Given the description of an element on the screen output the (x, y) to click on. 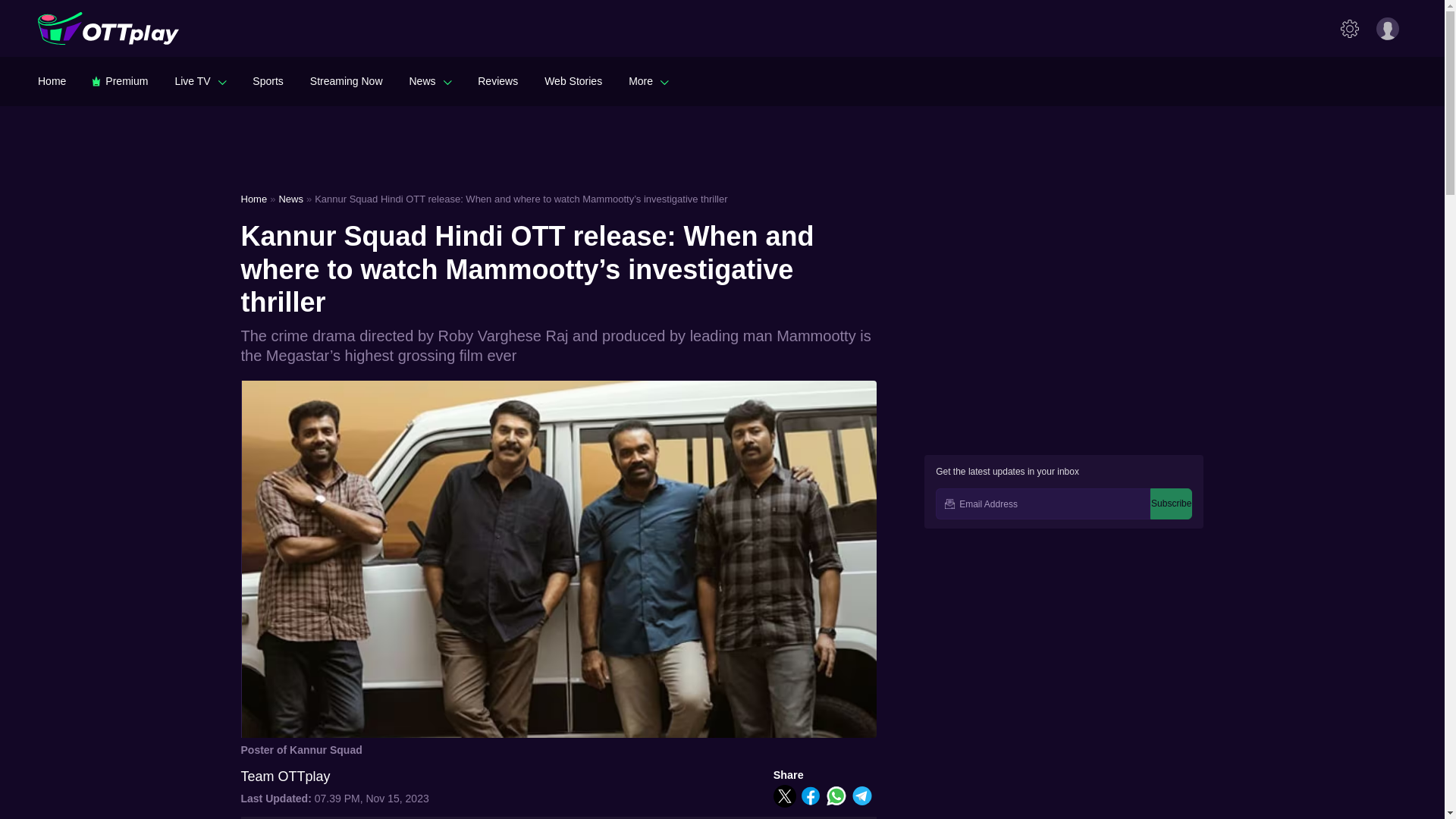
Live TV (199, 80)
Premium (120, 80)
News (430, 80)
Streaming Now (346, 80)
Web Stories (573, 80)
